Given the description of an element on the screen output the (x, y) to click on. 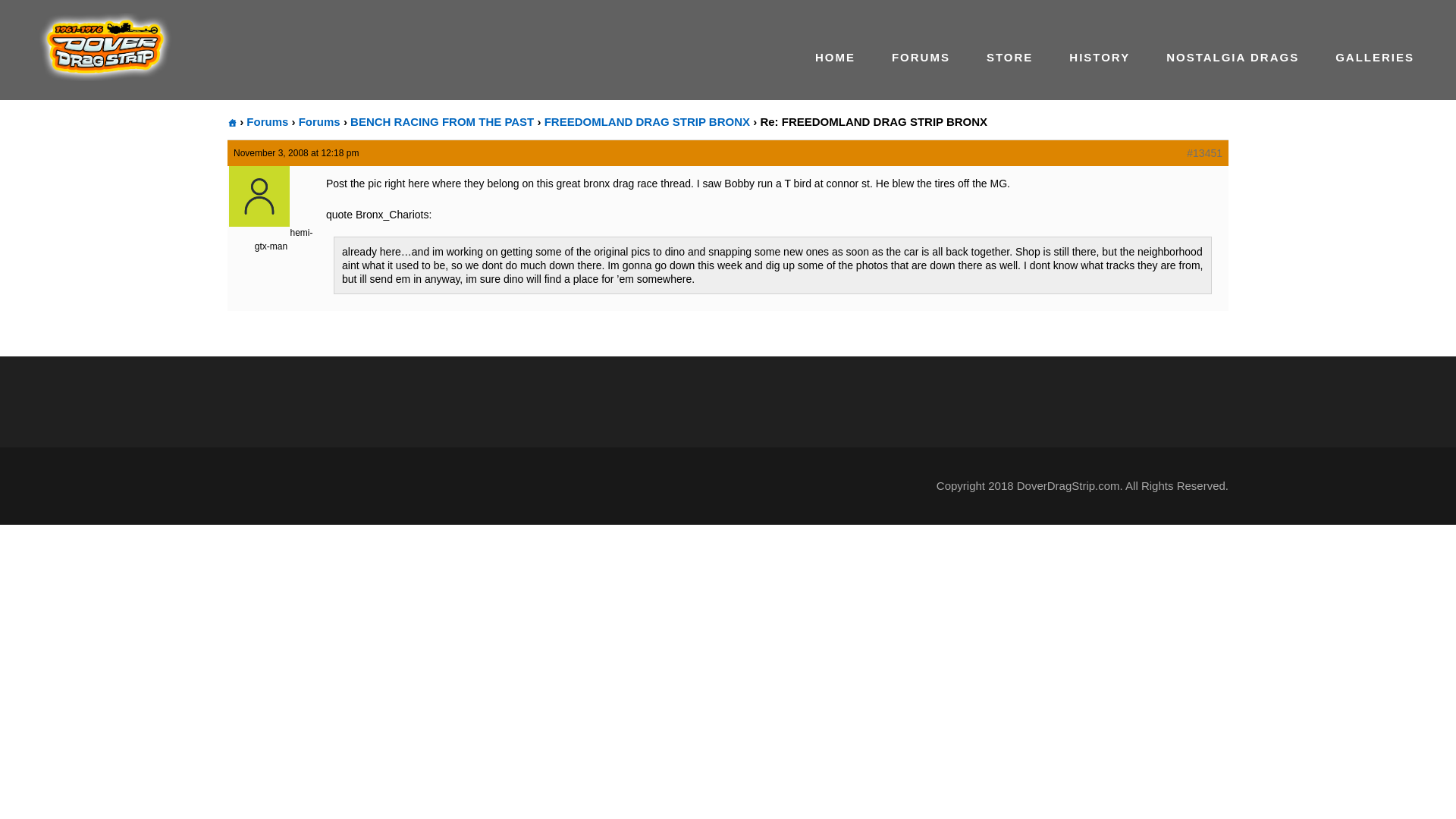
Forums (267, 121)
HISTORY (1098, 73)
Forums (319, 121)
GALLERIES (1374, 73)
BENCH RACING FROM THE PAST (442, 121)
FORUMS (920, 73)
NOSTALGIA DRAGS (1232, 73)
FREEDOMLAND DRAG STRIP BRONX (646, 121)
